Given the description of an element on the screen output the (x, y) to click on. 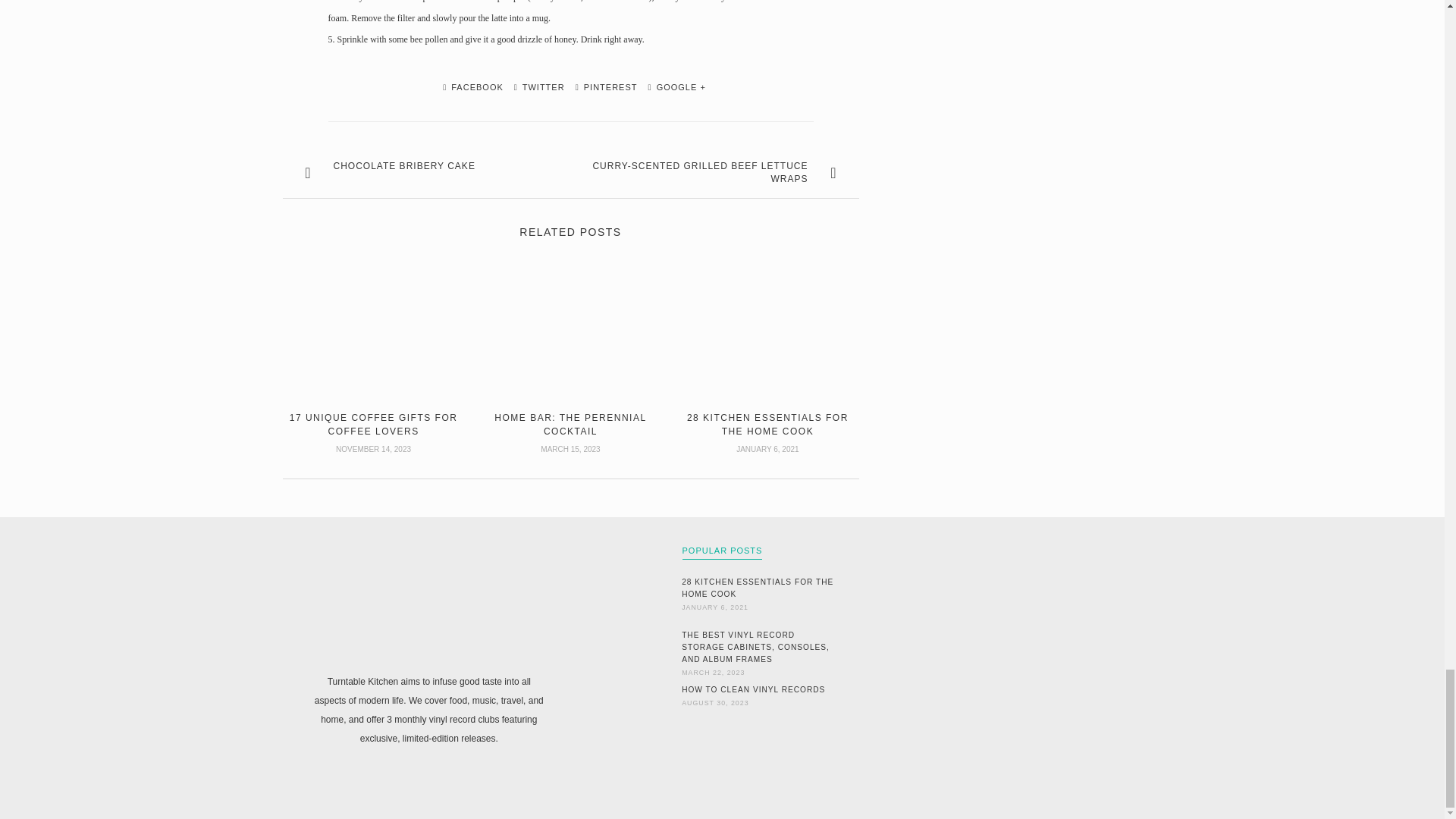
28 Kitchen Essentials for the Home Cook (759, 588)
How To Clean Vinyl Records (759, 689)
